Given the description of an element on the screen output the (x, y) to click on. 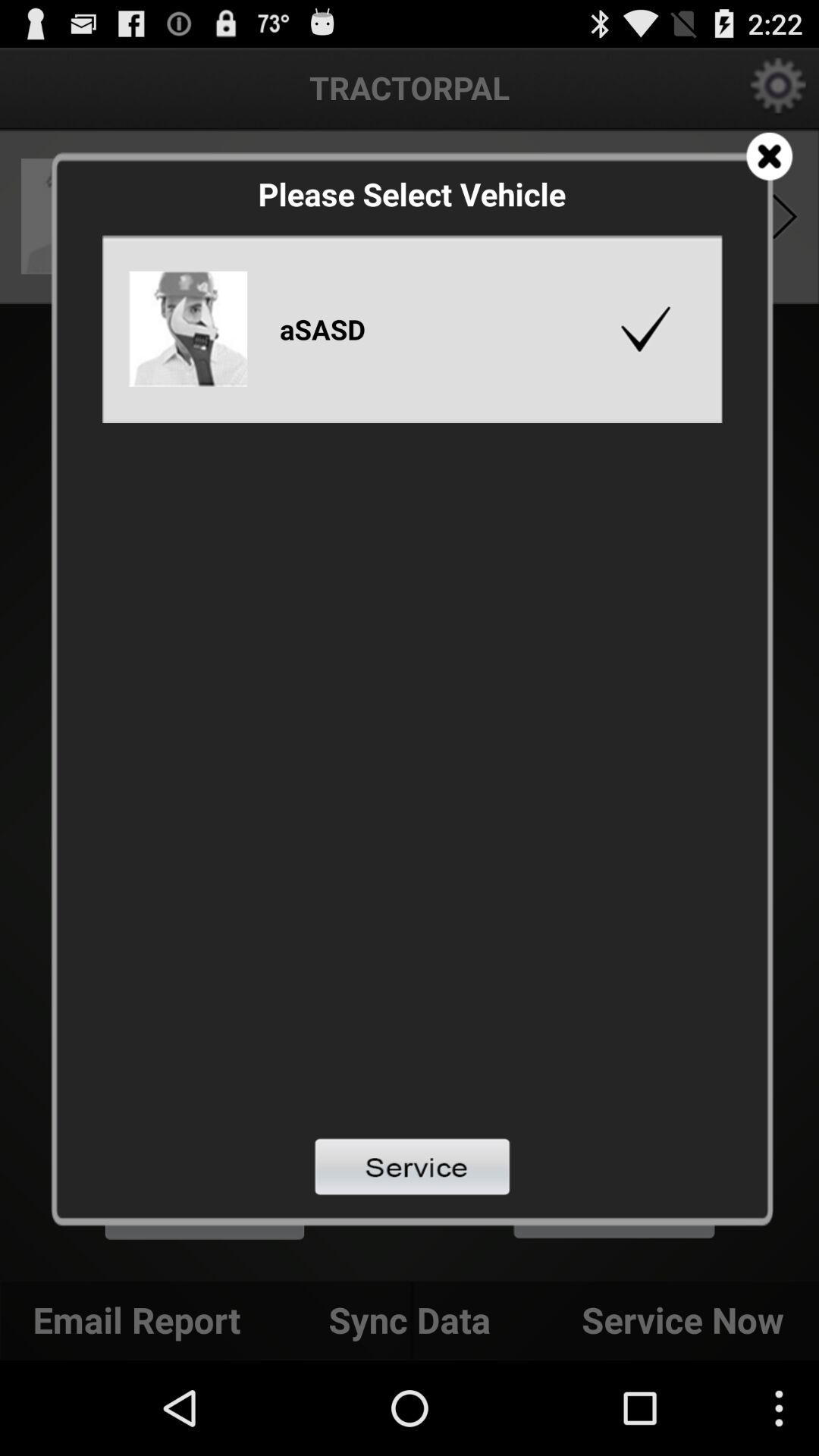
close screen (769, 156)
